Given the description of an element on the screen output the (x, y) to click on. 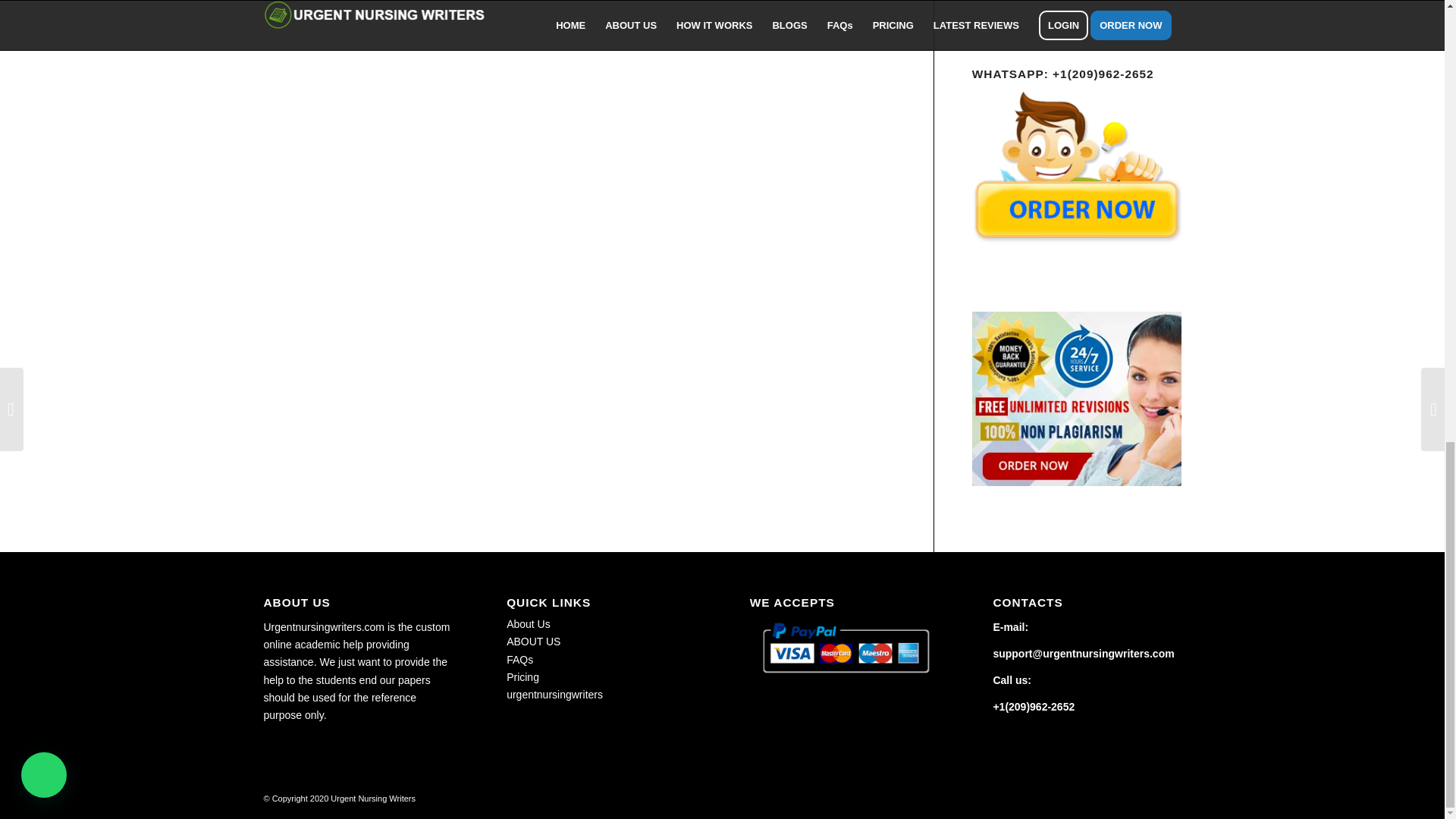
Pricing (522, 676)
About Us (528, 623)
FAQs (519, 659)
urgentnursingwriters (554, 694)
ABOUT US (533, 641)
